Given the description of an element on the screen output the (x, y) to click on. 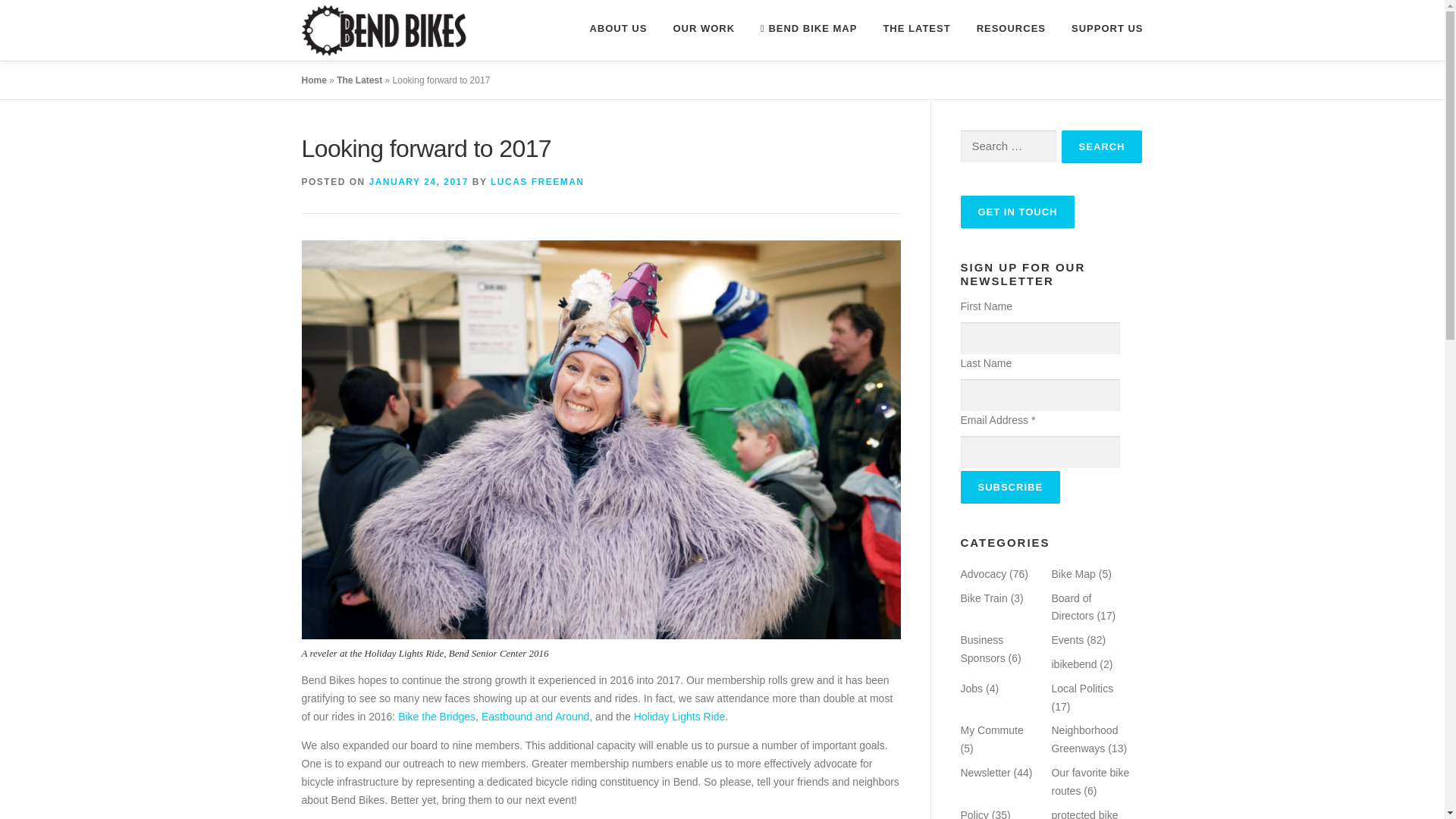
Subscribe (1009, 486)
LUCAS FREEMAN (537, 181)
ABOUT US (617, 28)
Search (1101, 146)
OUR WORK (703, 28)
Home (313, 80)
GET IN TOUCH (1016, 211)
Bike the Bridges (436, 716)
Advocacy (982, 573)
Search (1101, 146)
Bike Map (1072, 573)
JANUARY 24, 2017 (418, 181)
RESOURCES (1010, 28)
The Latest (358, 80)
Eastbound and Around (535, 716)
